Given the description of an element on the screen output the (x, y) to click on. 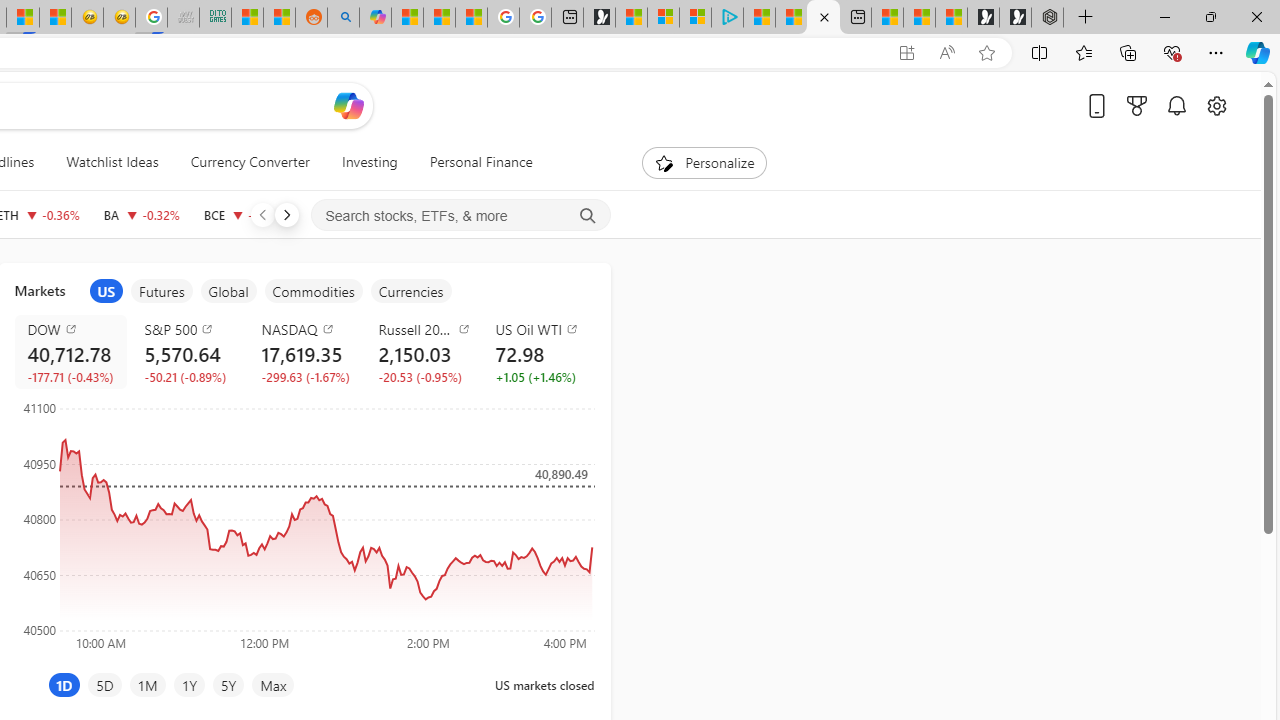
Microsoft Start Gaming (599, 17)
Max (273, 684)
New tab (855, 17)
Personal Finance (472, 162)
Add this page to favorites (Ctrl+D) (986, 53)
Russell 2000 RUT decrease 2,150.03 -20.53 -0.95% (420, 351)
Personal Finance (480, 162)
Personalize (703, 162)
Microsoft Copilot in Bing (374, 17)
Close (1256, 16)
Open settings (1216, 105)
item5 (410, 291)
Play Free Online Games | Games from Microsoft Start (1014, 17)
